Given the description of an element on the screen output the (x, y) to click on. 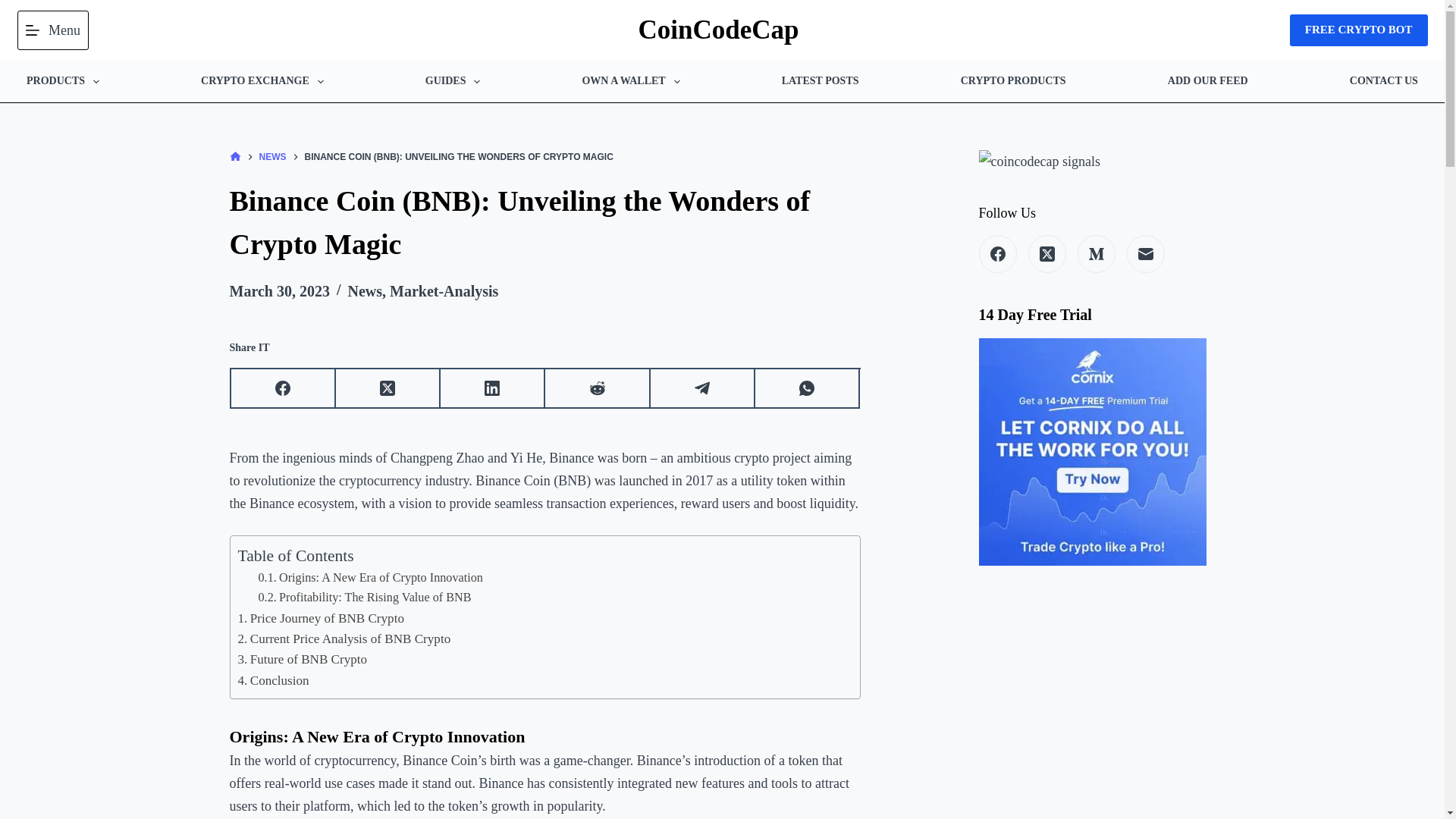
7 Day Free Trial (1091, 451)
Current Price Analysis of BNB Crypto (344, 638)
Conclusion (273, 680)
Price Journey of BNB Crypto (321, 618)
Profitability: The Rising Value of BNB (363, 598)
Future of BNB Crypto (303, 659)
Skip to content (15, 7)
Origins: A New Era of Crypto Innovation (369, 578)
